Given the description of an element on the screen output the (x, y) to click on. 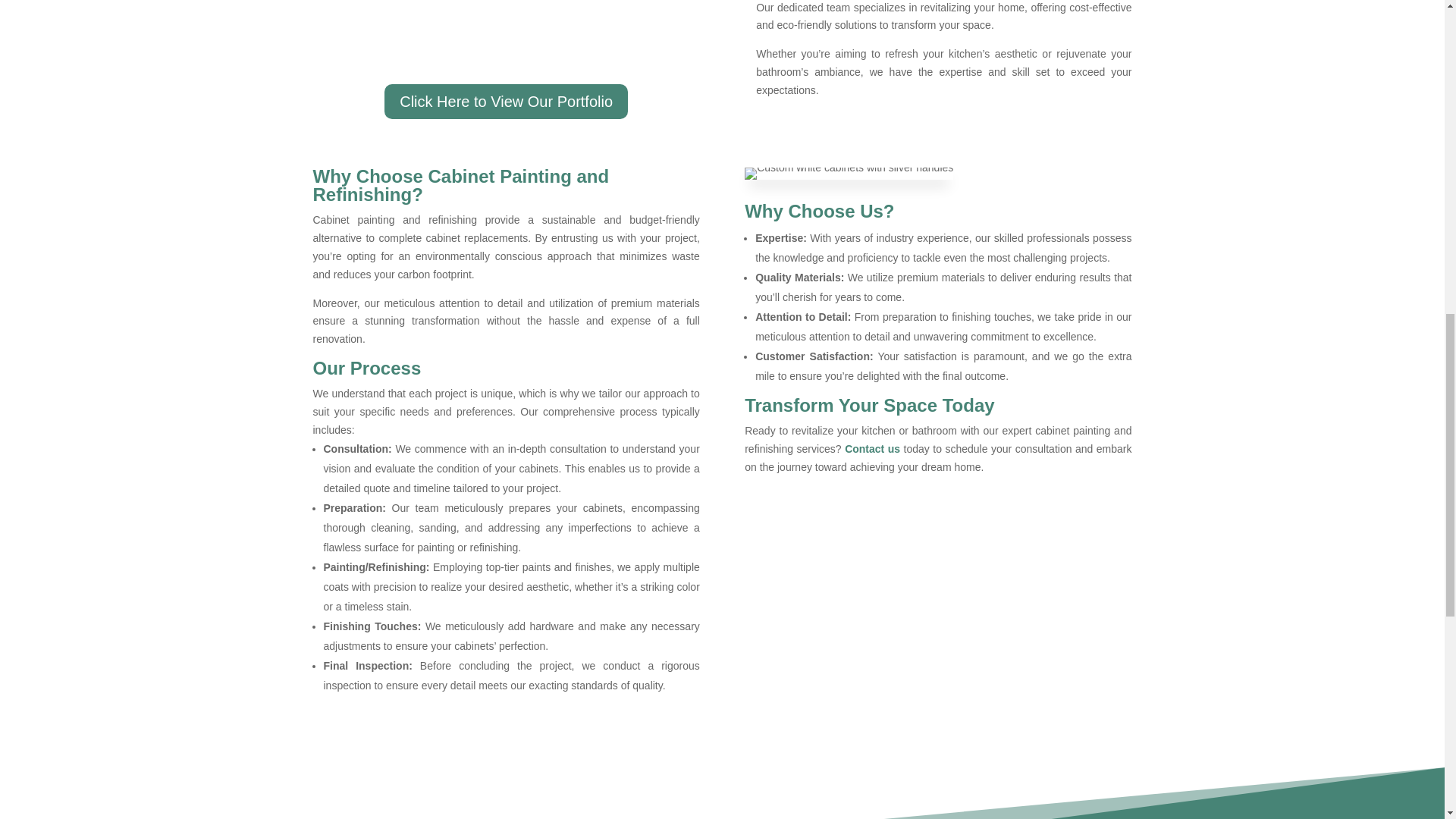
Click Here to View Our Portfolio (505, 101)
Contact us (871, 449)
Custom Painted Cabinets (848, 173)
